Given the description of an element on the screen output the (x, y) to click on. 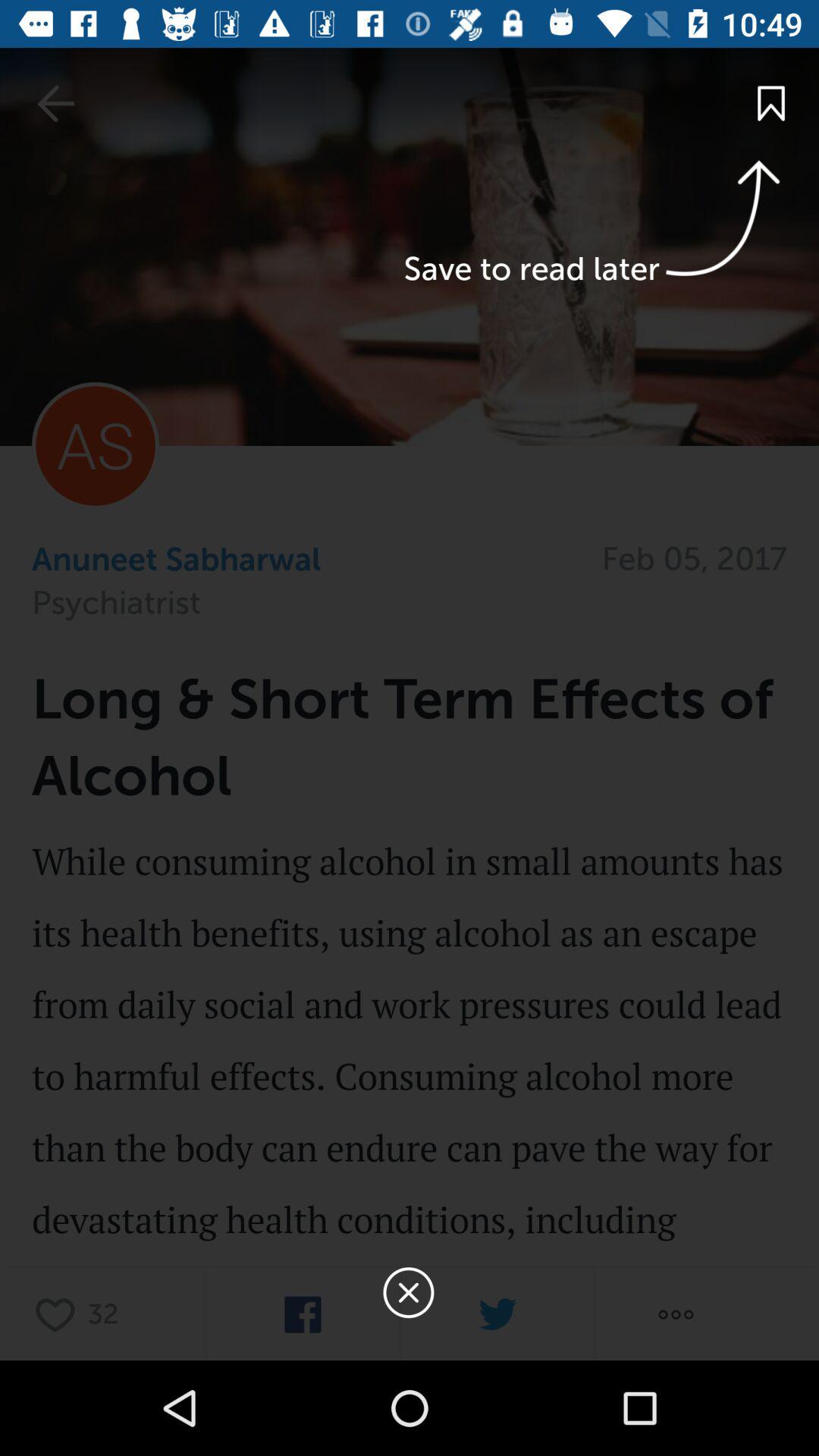
effect details (409, 1093)
